Given the description of an element on the screen output the (x, y) to click on. 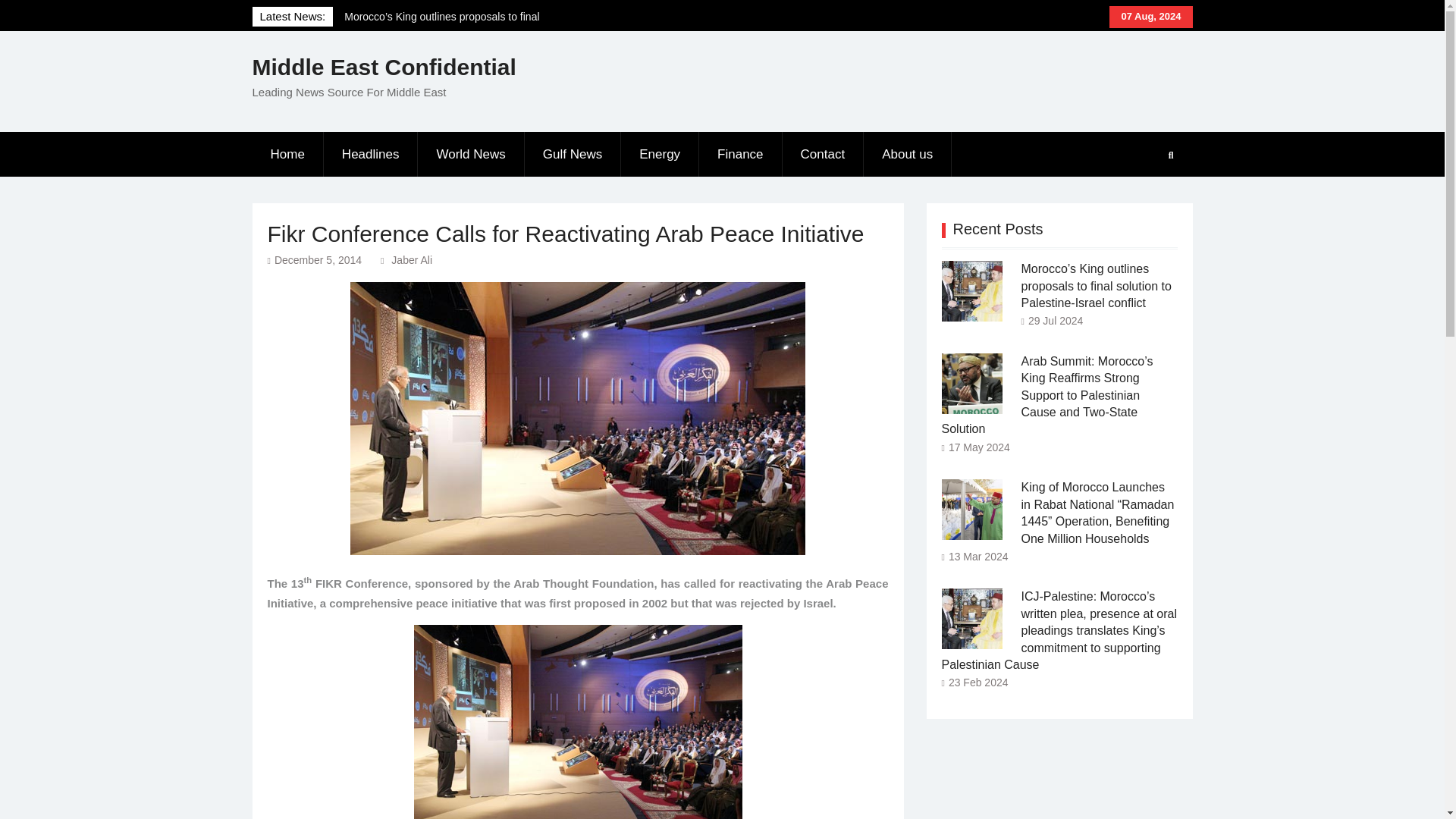
World News (470, 154)
December 5, 2014 (318, 259)
Finance (739, 154)
Contact (823, 154)
Middle East Confidential (383, 66)
Energy (659, 154)
Jaber Ali (411, 259)
About us (907, 154)
Headlines (371, 154)
Home (287, 154)
Gulf News (572, 154)
